Given the description of an element on the screen output the (x, y) to click on. 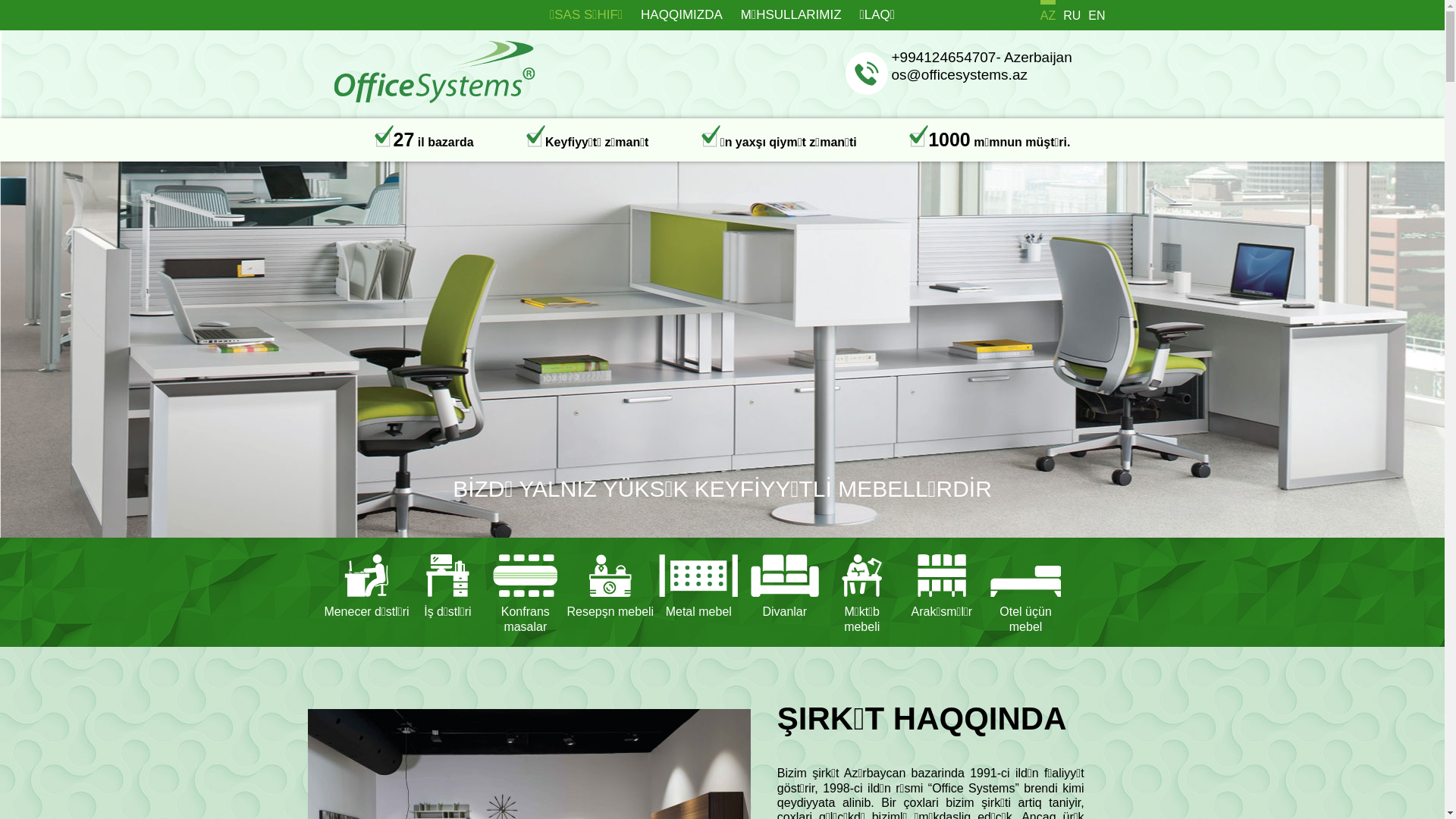
+994124654707 Element type: text (943, 57)
EN Element type: text (1096, 11)
HAQQIMIZDA Element type: text (681, 14)
Divanlar Element type: text (784, 591)
Metal mebel Element type: text (698, 591)
os@officesystems.az Element type: text (959, 74)
Konfrans masalar Element type: text (524, 591)
AZ Element type: text (1047, 11)
RU Element type: text (1071, 11)
